Given the description of an element on the screen output the (x, y) to click on. 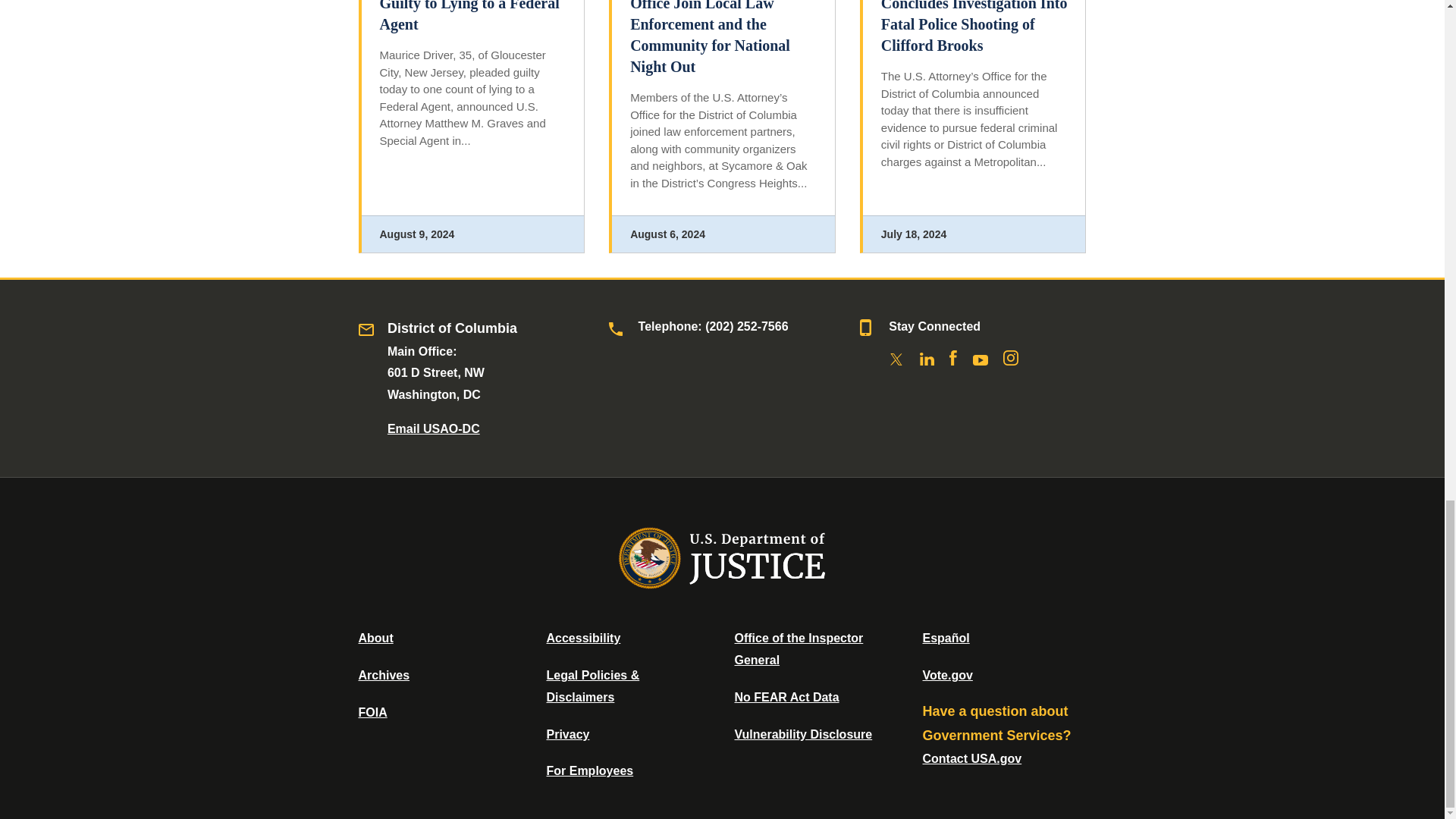
Legal Policies and Disclaimers (592, 686)
Data Posted Pursuant To The No Fear Act (785, 697)
Accessibility Statement (583, 637)
For Employees (589, 770)
About DOJ (375, 637)
Department of Justice Archive (383, 675)
Office of Information Policy (372, 712)
